Given the description of an element on the screen output the (x, y) to click on. 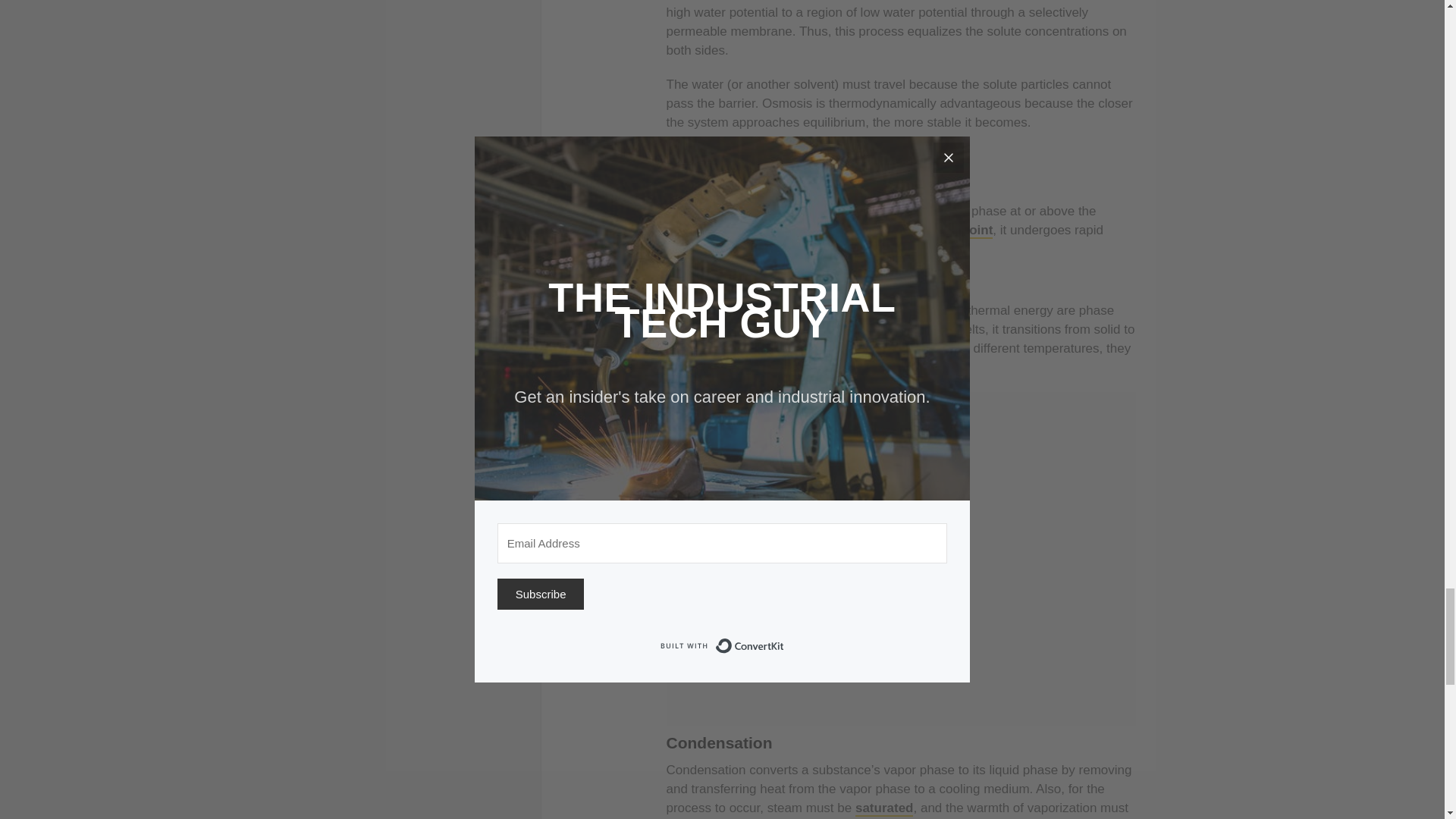
boiling point (953, 230)
saturated (885, 808)
